Given the description of an element on the screen output the (x, y) to click on. 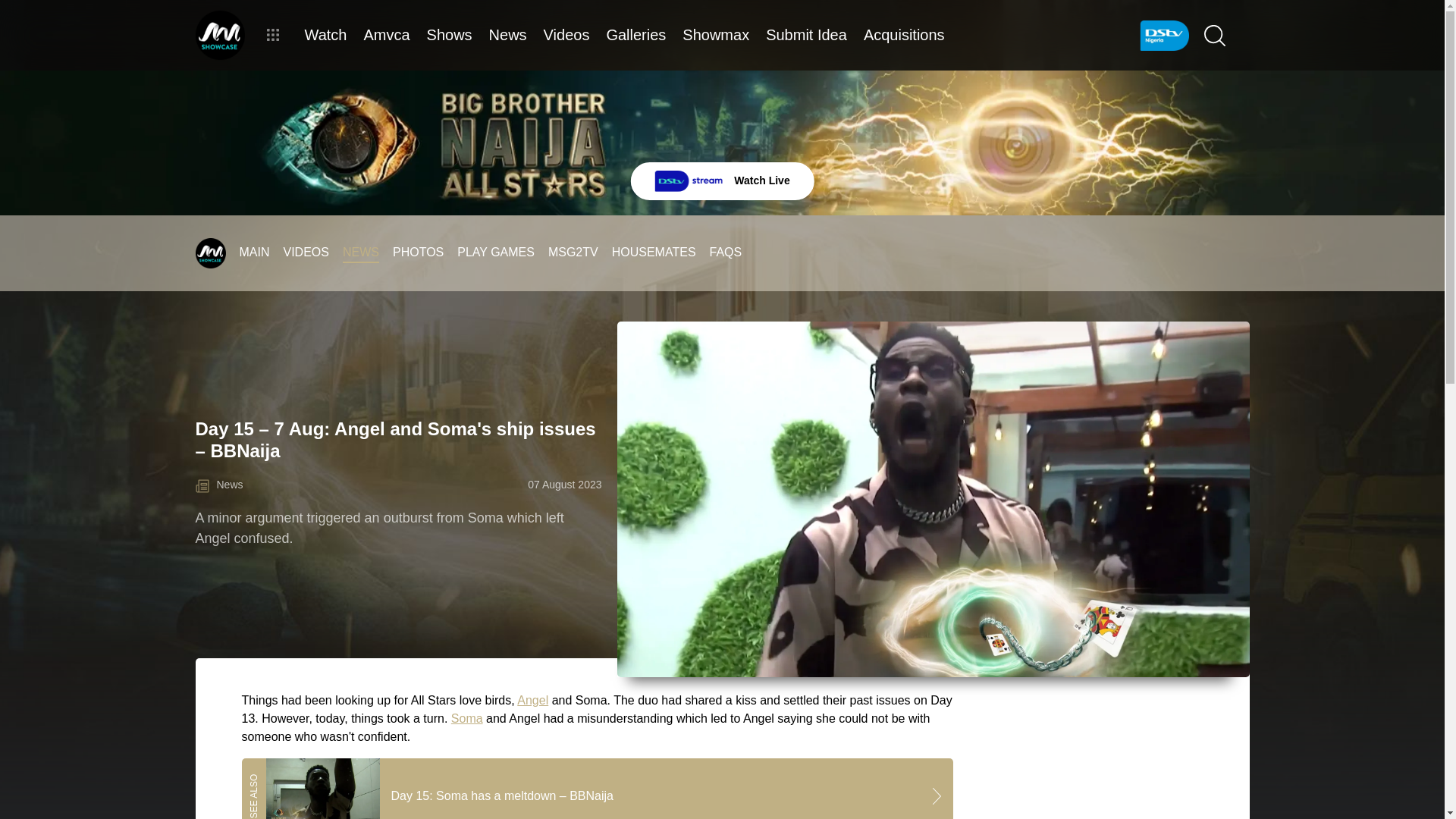
Watch Live (721, 180)
Soma (467, 717)
FAQS (726, 252)
MSG2TV (573, 252)
Angel (532, 699)
PLAY GAMES (495, 252)
HOUSEMATES (653, 252)
NEWS (360, 252)
VIDEOS (306, 252)
PHOTOS (418, 252)
